Given the description of an element on the screen output the (x, y) to click on. 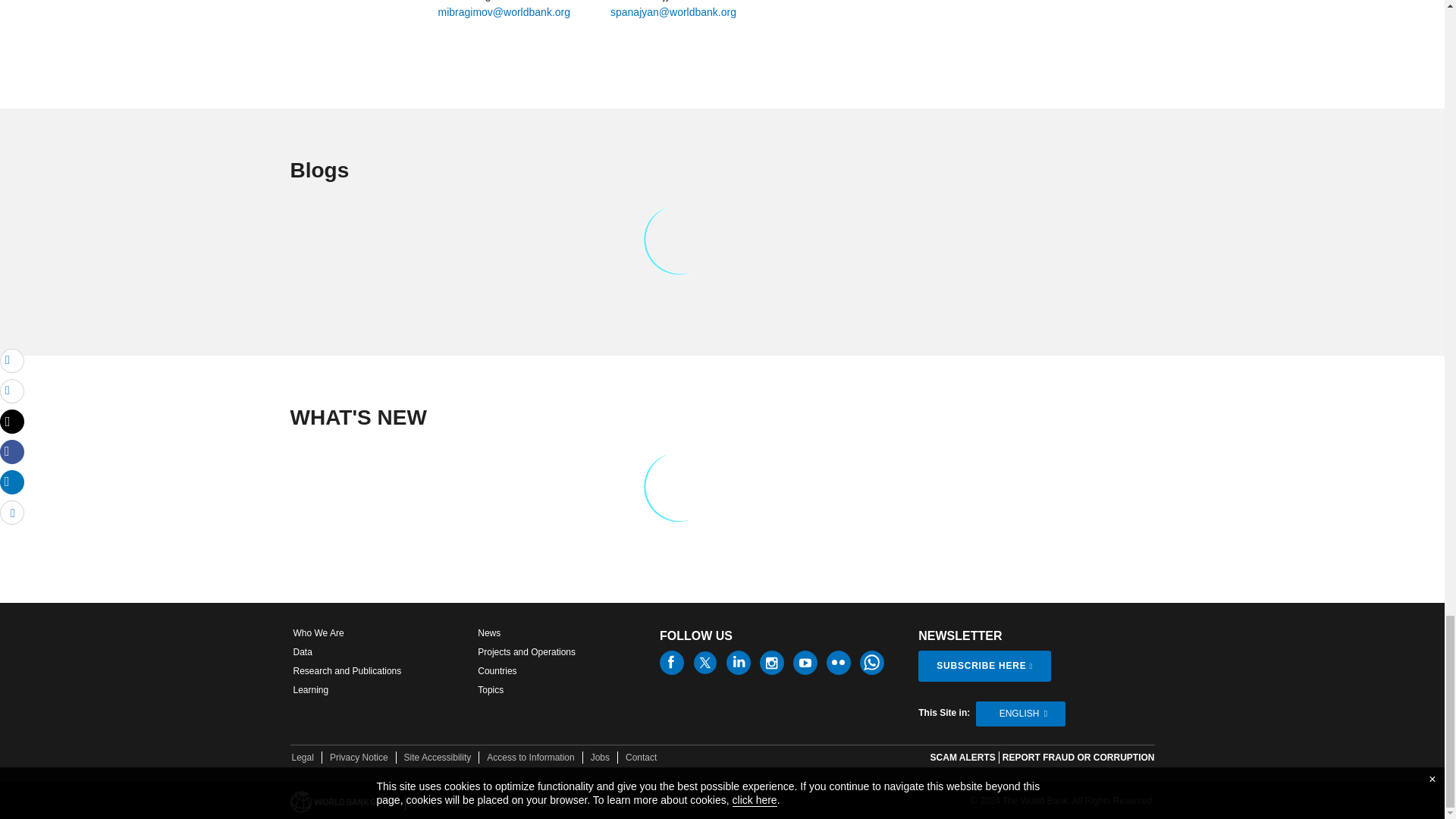
International Development Association (459, 802)
World Bank Group logo (343, 802)
International Bank for Reconstruction and Development (427, 802)
